Given the description of an element on the screen output the (x, y) to click on. 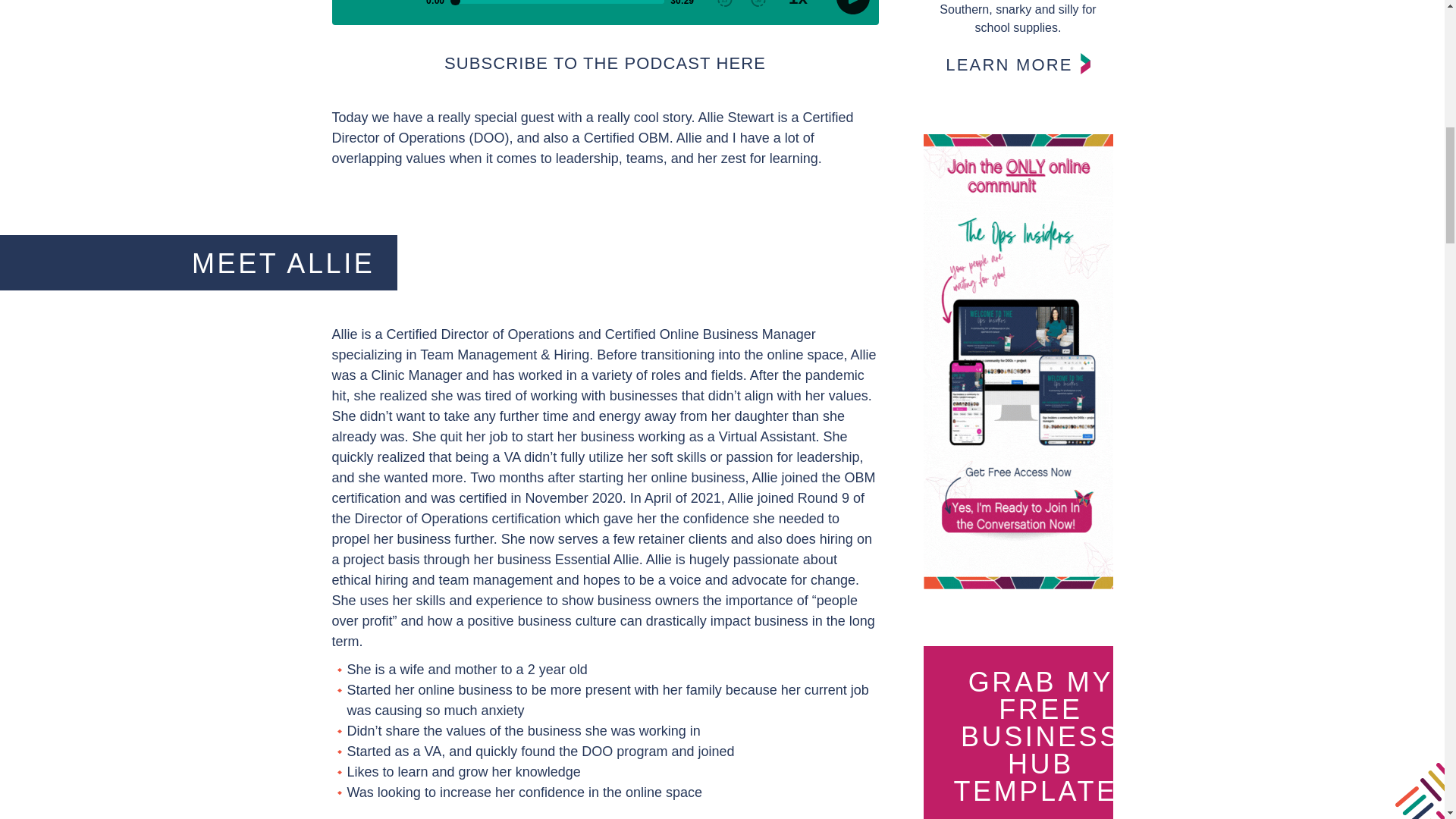
Embed Player (605, 12)
SUBSCRIBE TO THE PODCAST HERE (604, 63)
LEARN MORE (1018, 64)
